Given the description of an element on the screen output the (x, y) to click on. 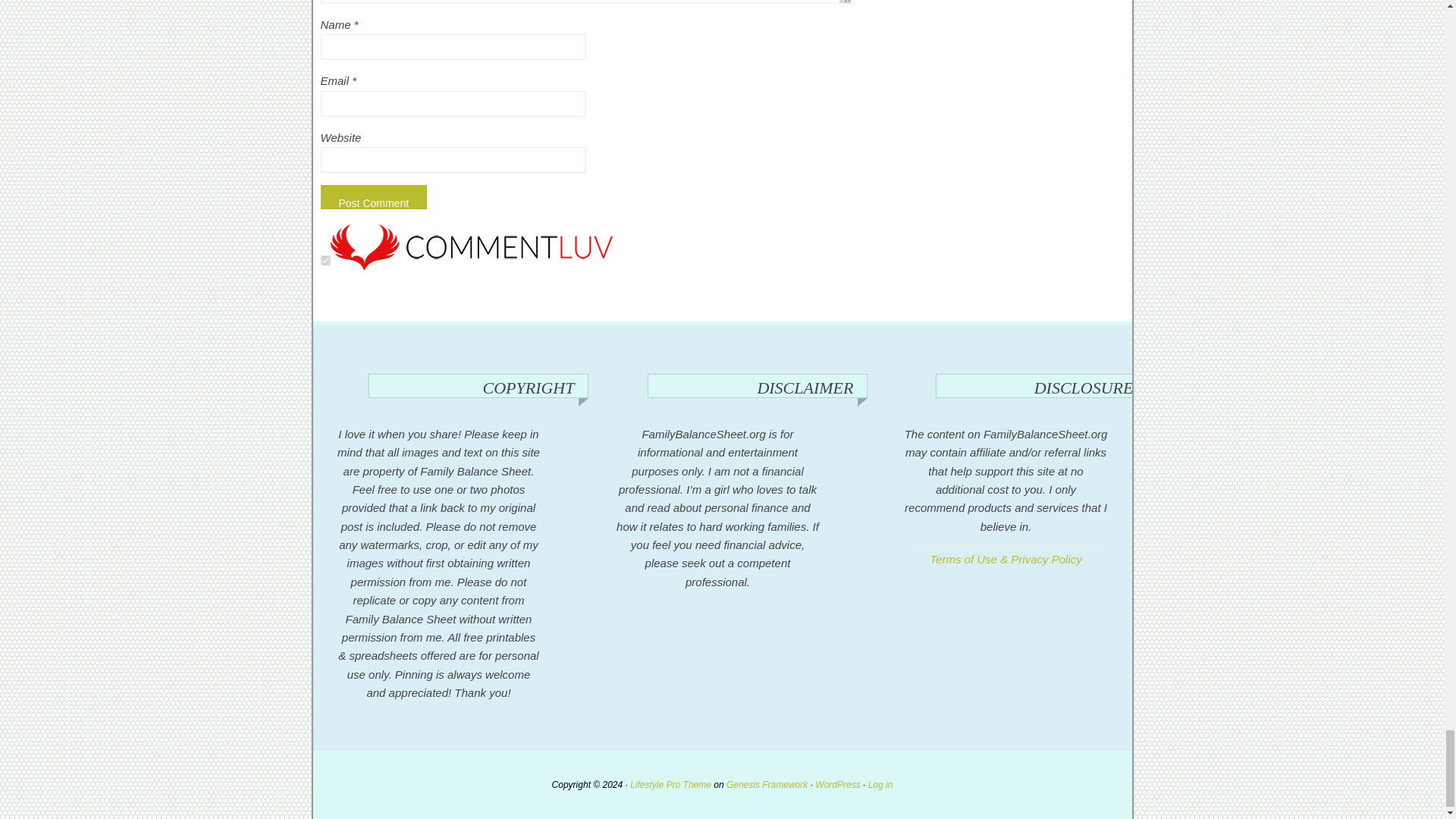
Post Comment (373, 197)
CommentLuv is enabled (471, 265)
